Given the description of an element on the screen output the (x, y) to click on. 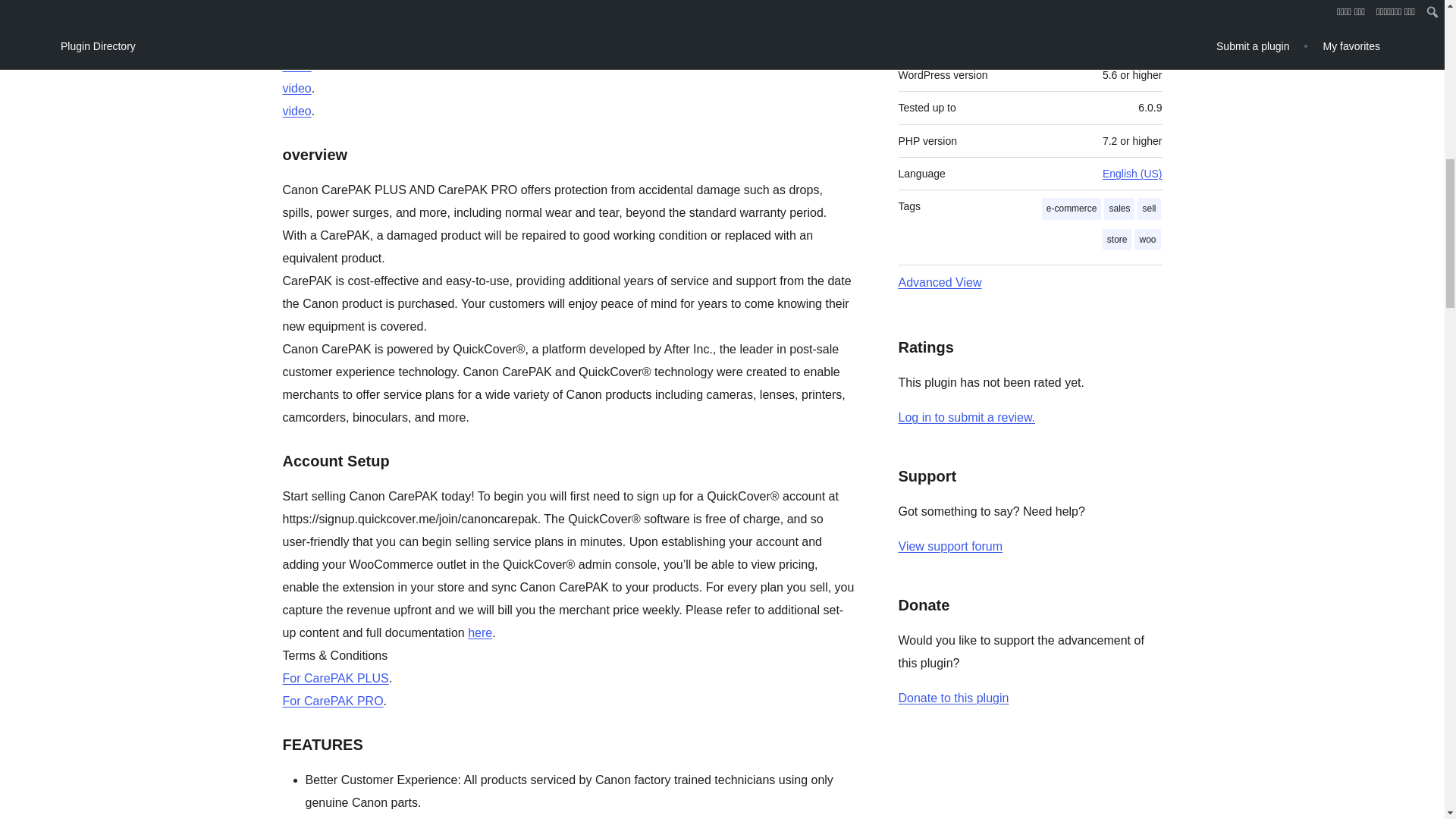
video (296, 65)
Log in to WordPress.org (966, 417)
video (296, 88)
video (296, 110)
here (479, 632)
For CarePAK PLUS (335, 677)
